Given the description of an element on the screen output the (x, y) to click on. 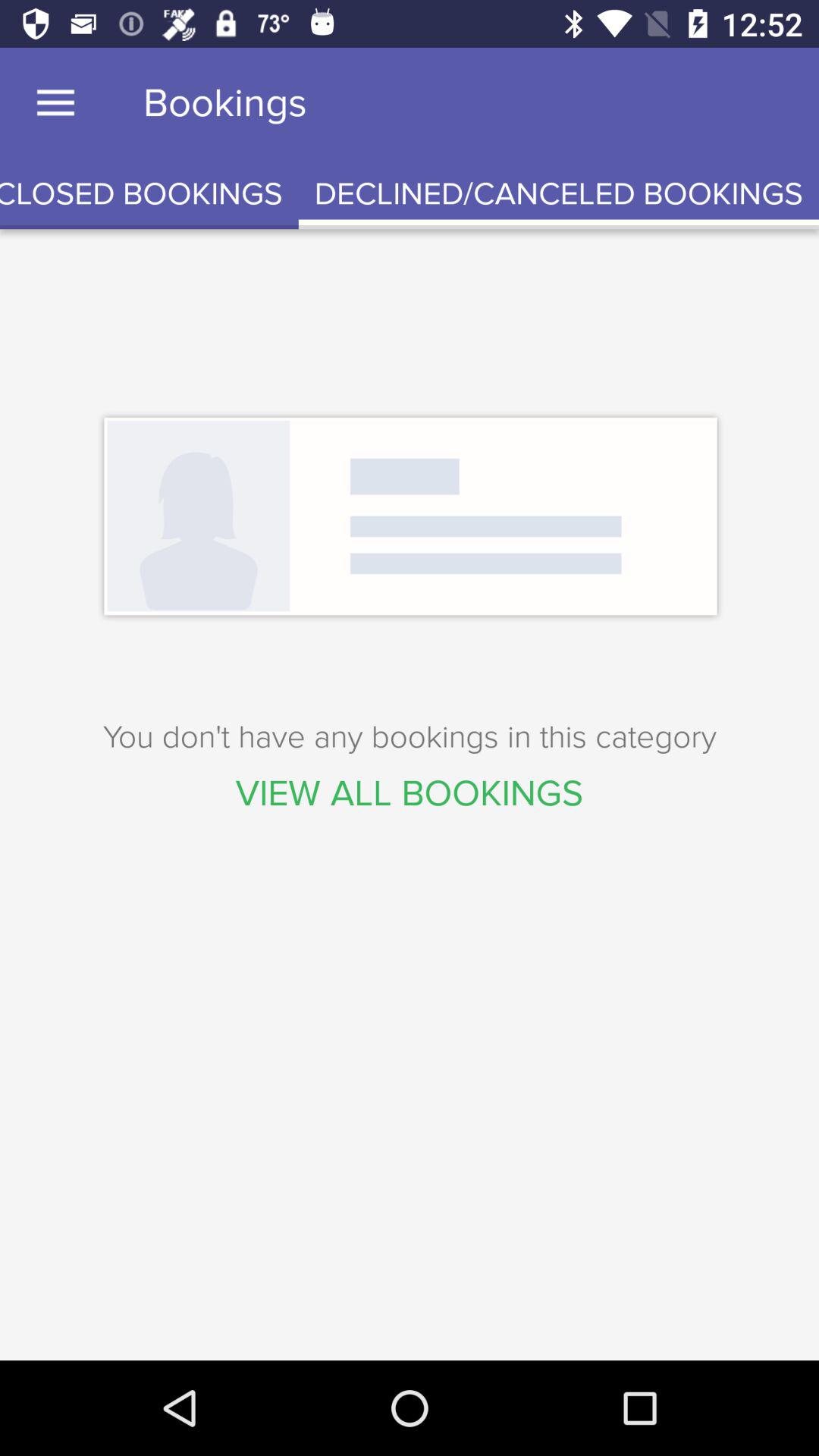
turn off the icon below bookings item (558, 194)
